Given the description of an element on the screen output the (x, y) to click on. 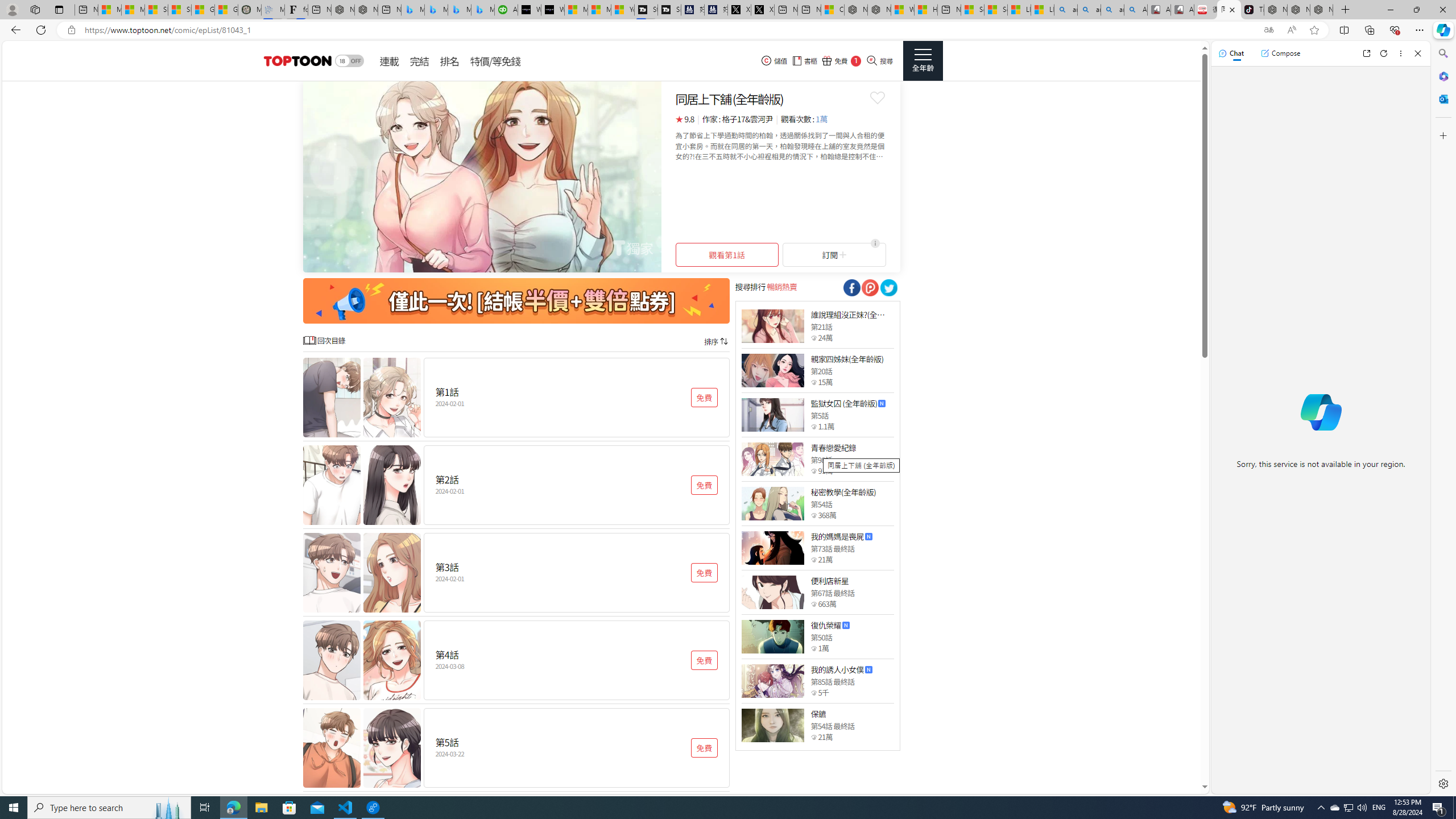
Nordace Siena Pro 15 Backpack (1298, 9)
